Given the description of an element on the screen output the (x, y) to click on. 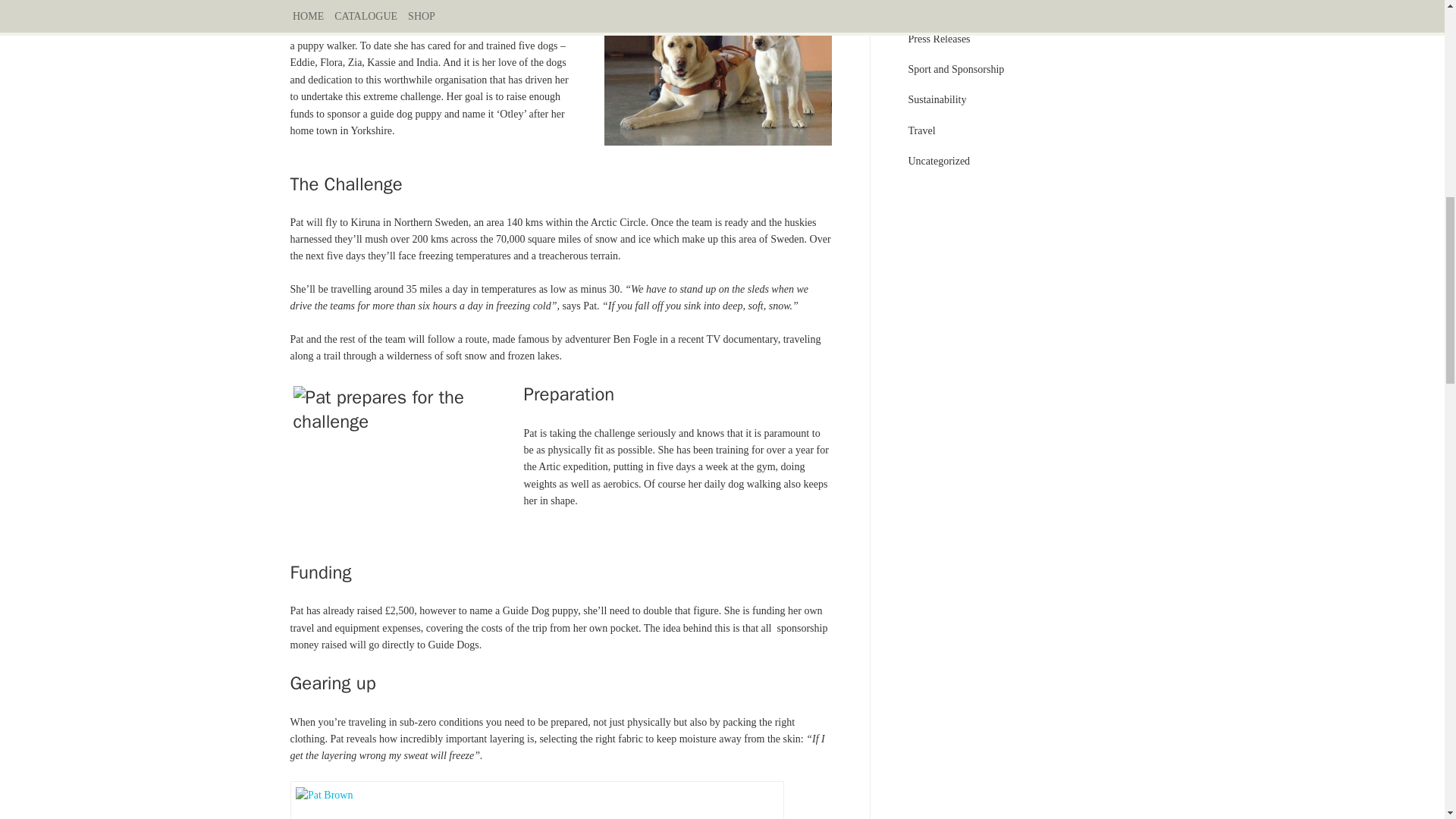
Pat prepares for the challenge (405, 458)
Ladies Silk Thermals (536, 803)
